Given the description of an element on the screen output the (x, y) to click on. 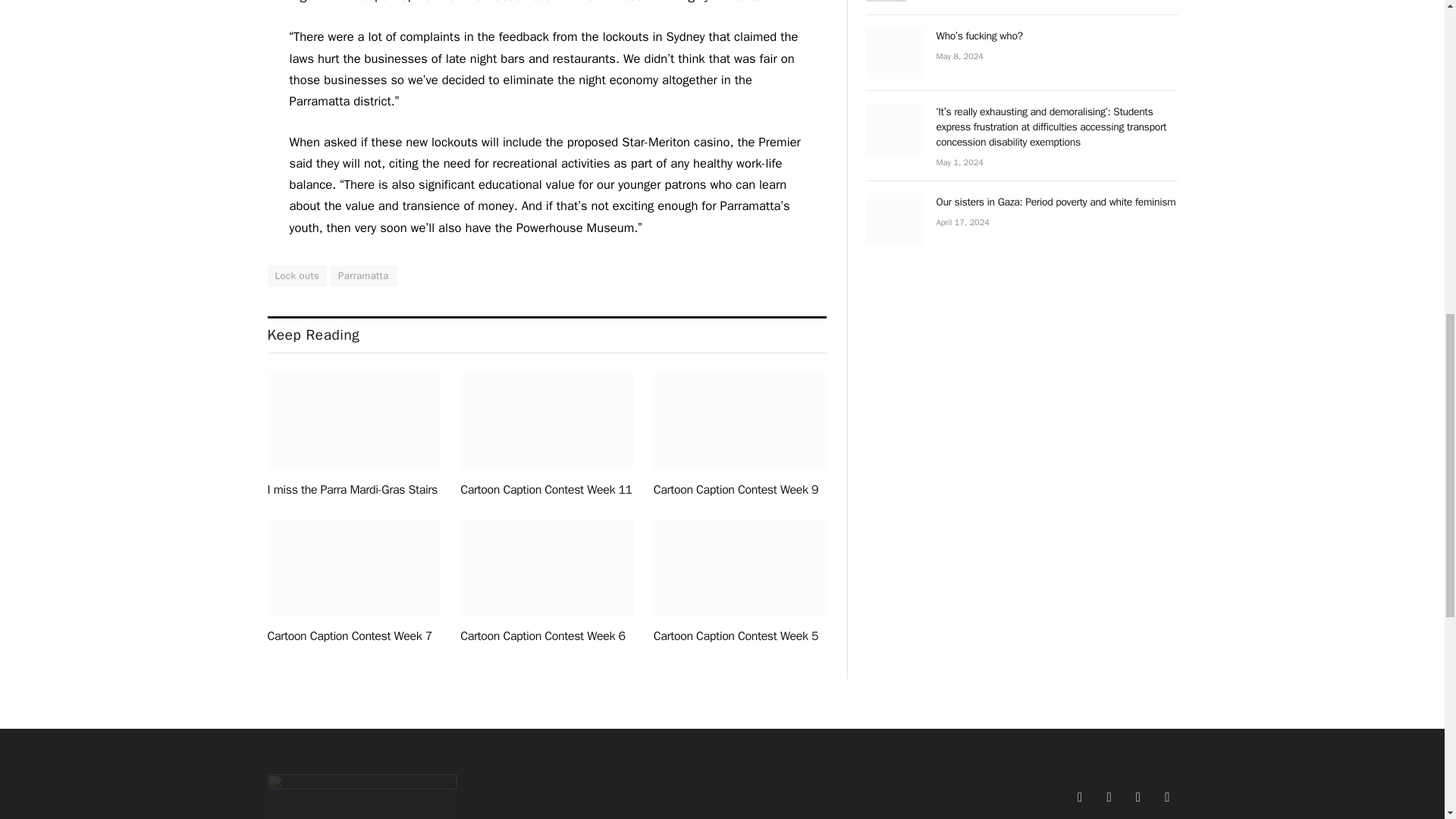
Cartoon Caption Contest Week 6 (546, 567)
I miss the Parra Mardi-Gras Stairs (353, 421)
Cartoon Caption Contest Week 7 (353, 567)
Cartoon Caption Contest Week 9 (740, 421)
Cartoon Caption Contest Week 11 (546, 421)
Cartoon Caption Contest Week 5 (740, 567)
